Given the description of an element on the screen output the (x, y) to click on. 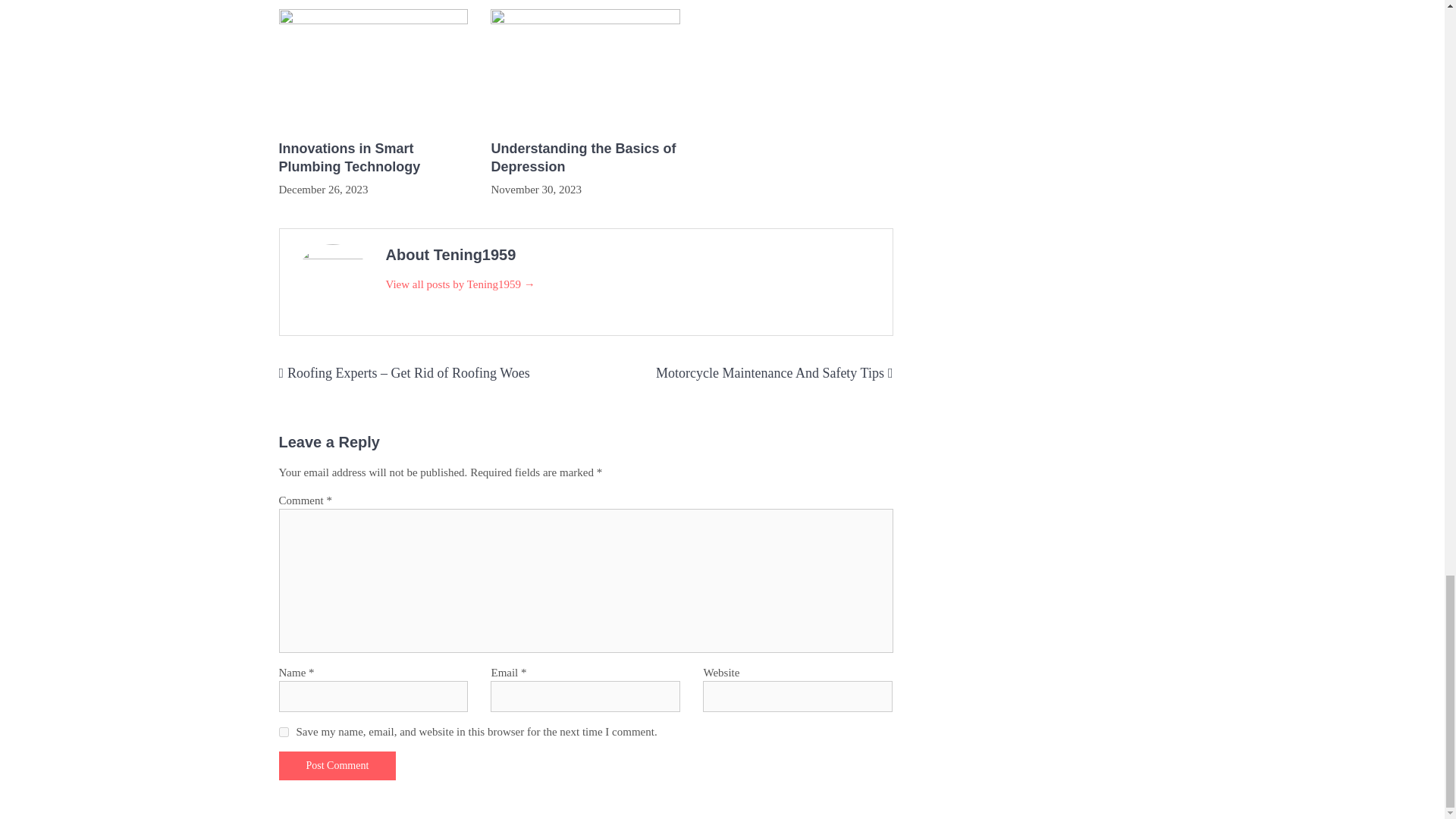
Post Comment (337, 765)
yes (283, 732)
Innovations in Smart Plumbing Technology (373, 158)
Understanding the Basics of Depression (584, 158)
Motorcycle Maintenance And Safety Tips (769, 372)
Post Comment (337, 765)
